Given the description of an element on the screen output the (x, y) to click on. 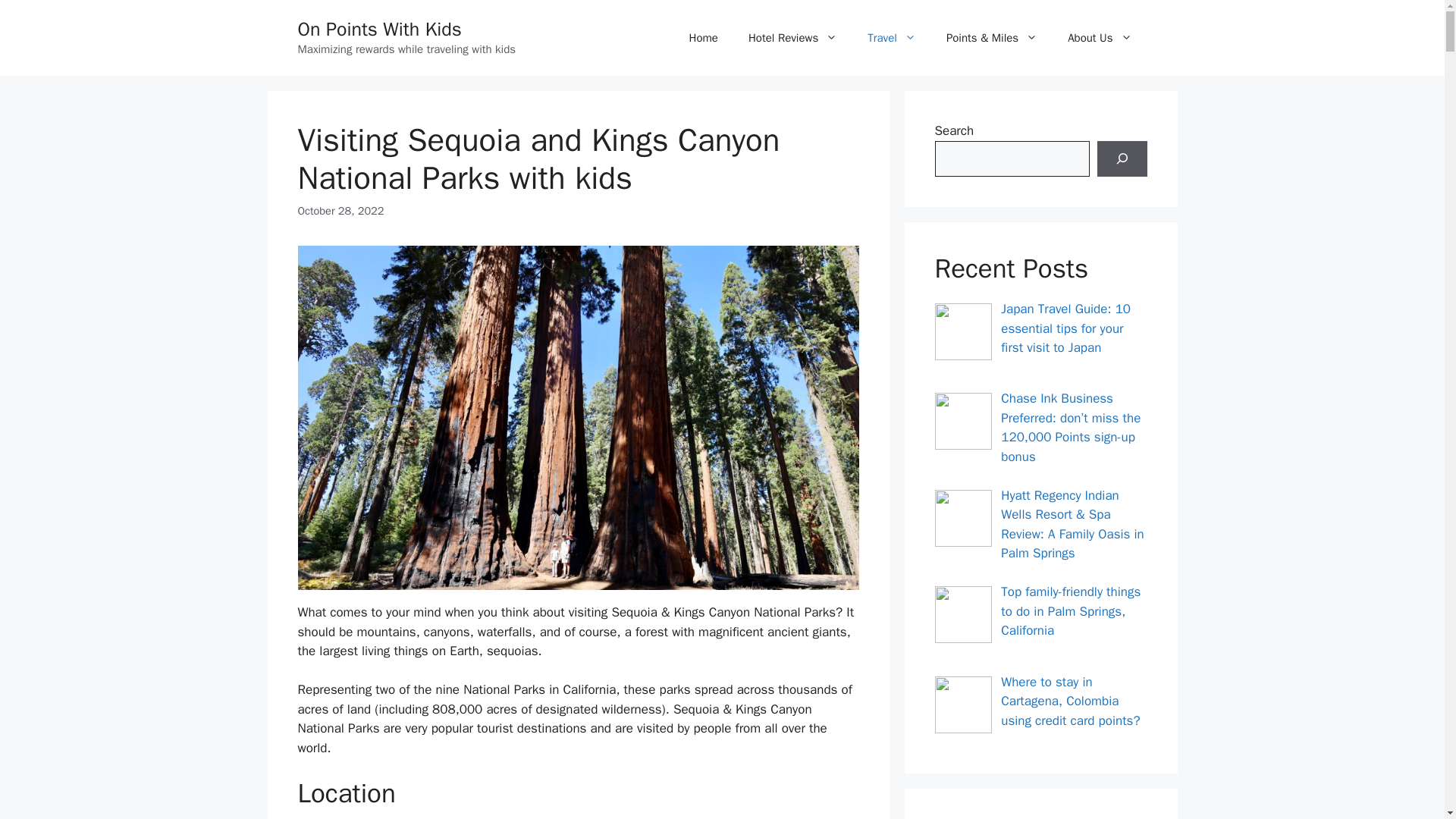
Hotel Reviews (792, 37)
Travel (891, 37)
About Us (1099, 37)
Home (703, 37)
On Points With Kids (379, 28)
